Given the description of an element on the screen output the (x, y) to click on. 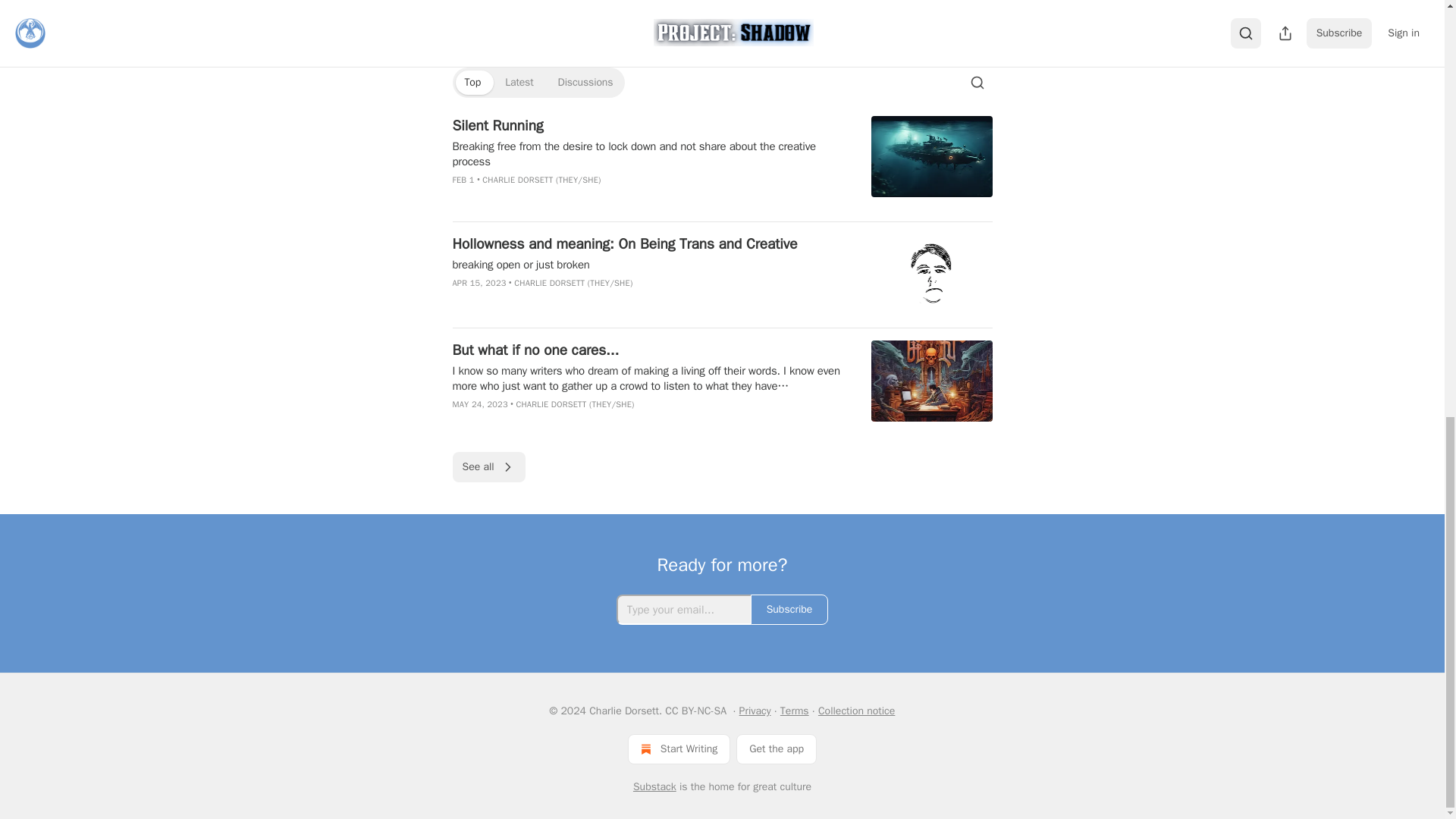
Discussions (585, 82)
Silent Running (651, 125)
Top (471, 82)
Latest (518, 82)
